Given the description of an element on the screen output the (x, y) to click on. 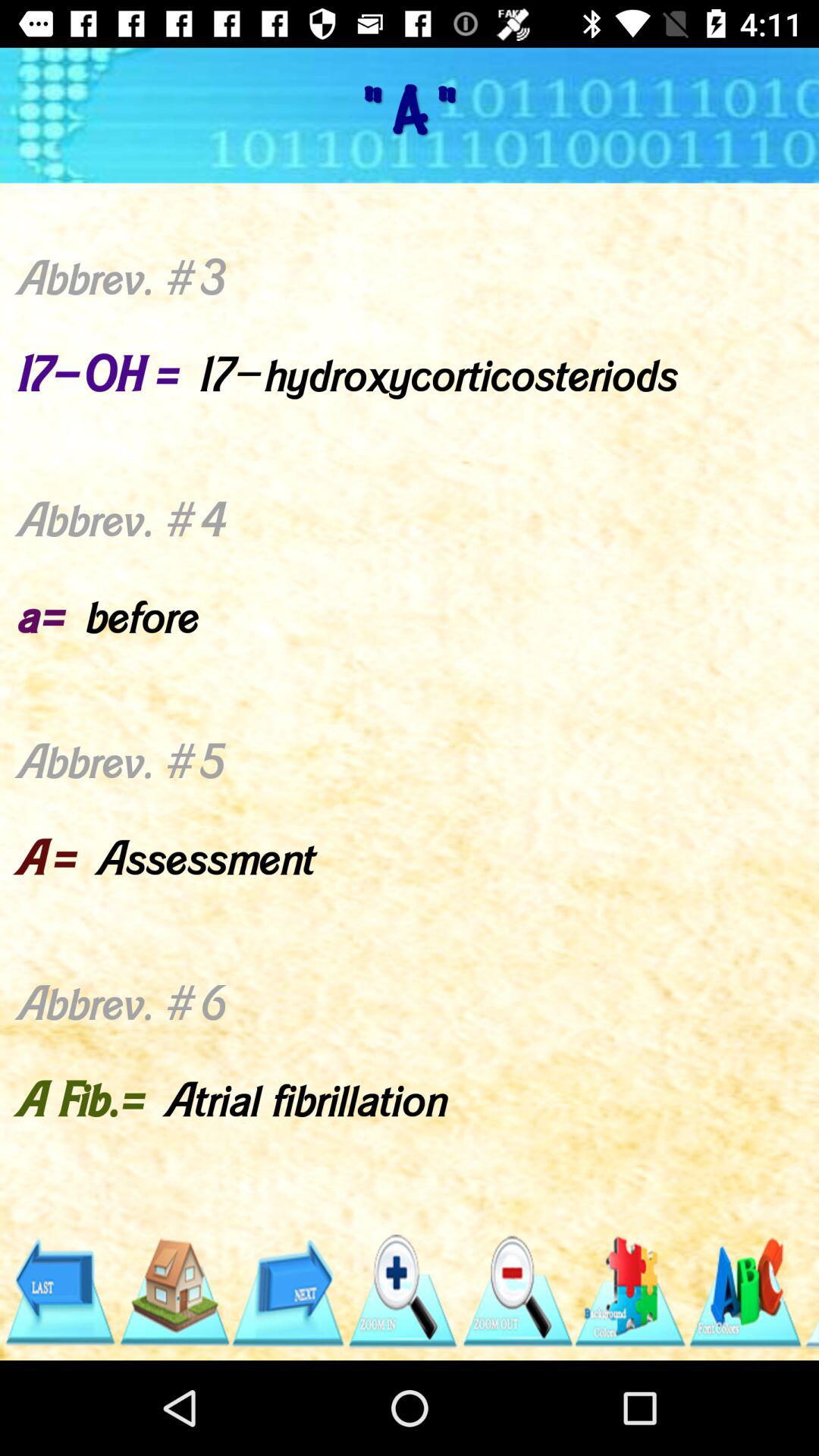
return home (173, 1291)
